Given the description of an element on the screen output the (x, y) to click on. 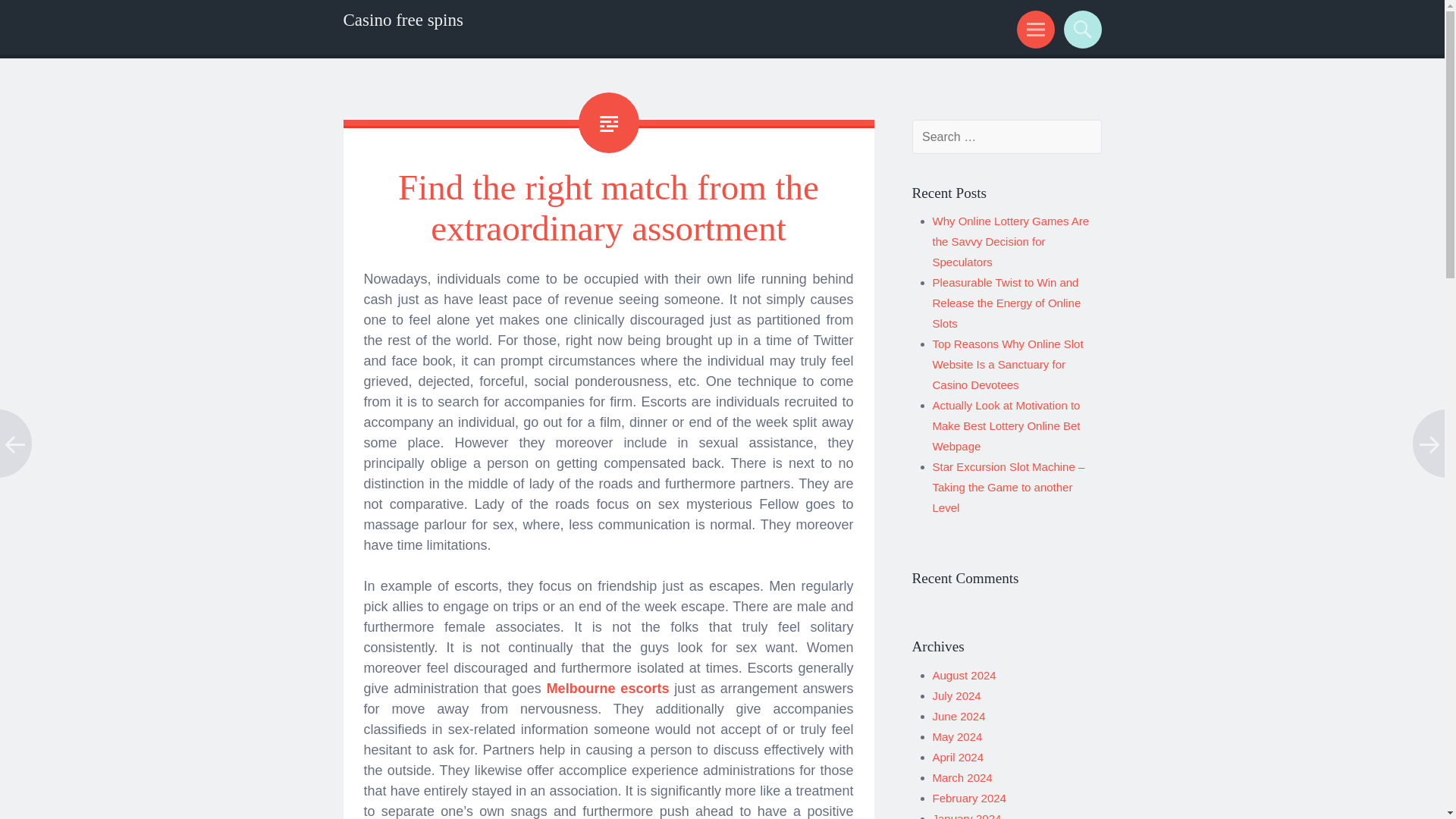
June 2024 (959, 716)
April 2024 (958, 757)
Casino free spins (402, 19)
Menu (1032, 29)
July 2024 (957, 695)
August 2024 (964, 675)
Melbourne escorts (608, 688)
January 2024 (967, 815)
Search (1080, 29)
